Given the description of an element on the screen output the (x, y) to click on. 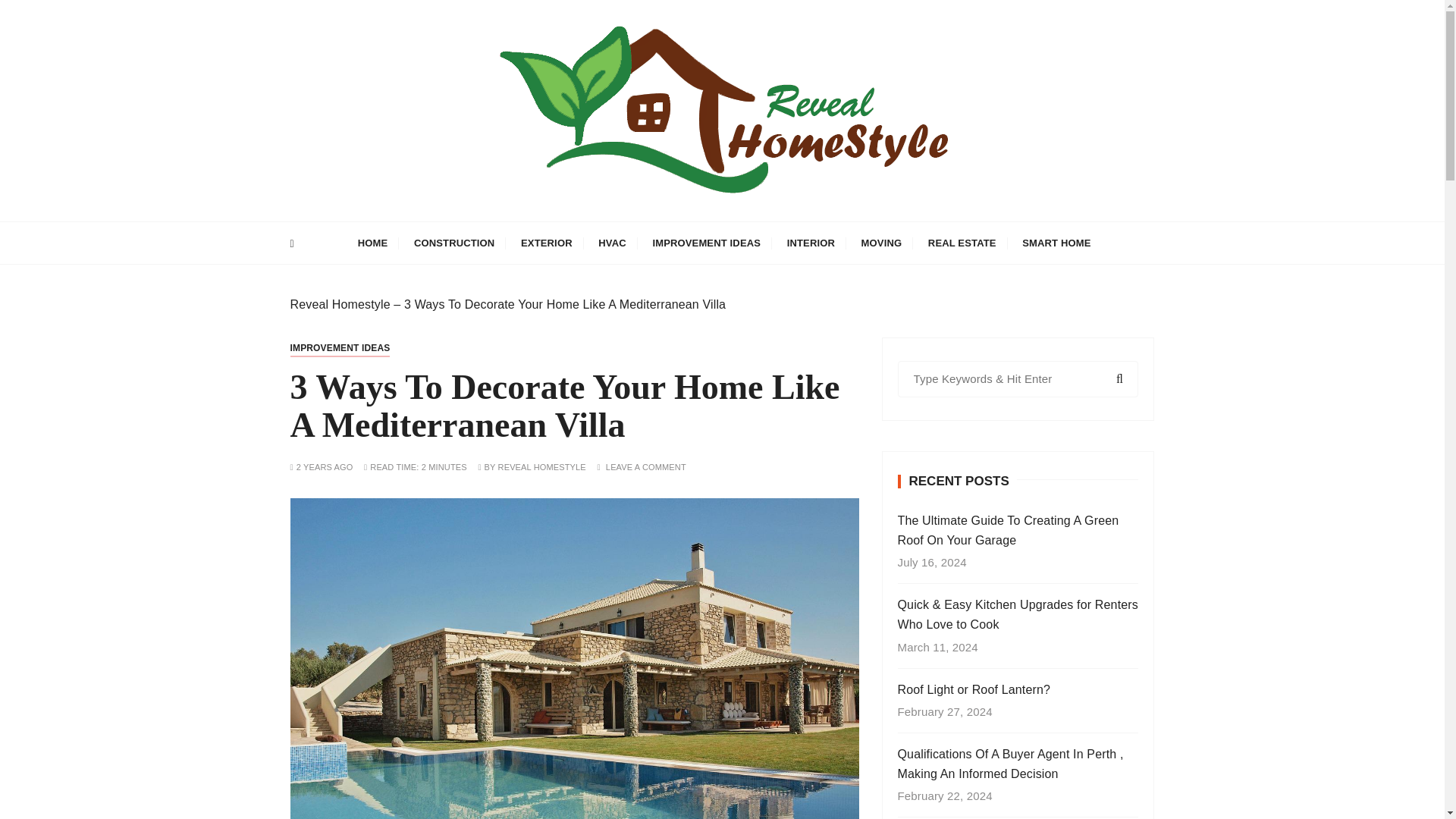
MOVING (882, 242)
Reveal Homestyle (440, 231)
REVEAL HOMESTYLE (541, 467)
The Ultimate Guide To Creating A Green Roof On Your Garage (1018, 530)
INTERIOR (810, 242)
HVAC (611, 242)
CONSTRUCTION (454, 242)
Reveal Homestyle (339, 304)
SMART HOME (1056, 242)
EXTERIOR (546, 242)
LEAVE A COMMENT (645, 467)
REAL ESTATE (962, 242)
IMPROVEMENT IDEAS (339, 348)
HOME (372, 242)
IMPROVEMENT IDEAS (705, 242)
